Given the description of an element on the screen output the (x, y) to click on. 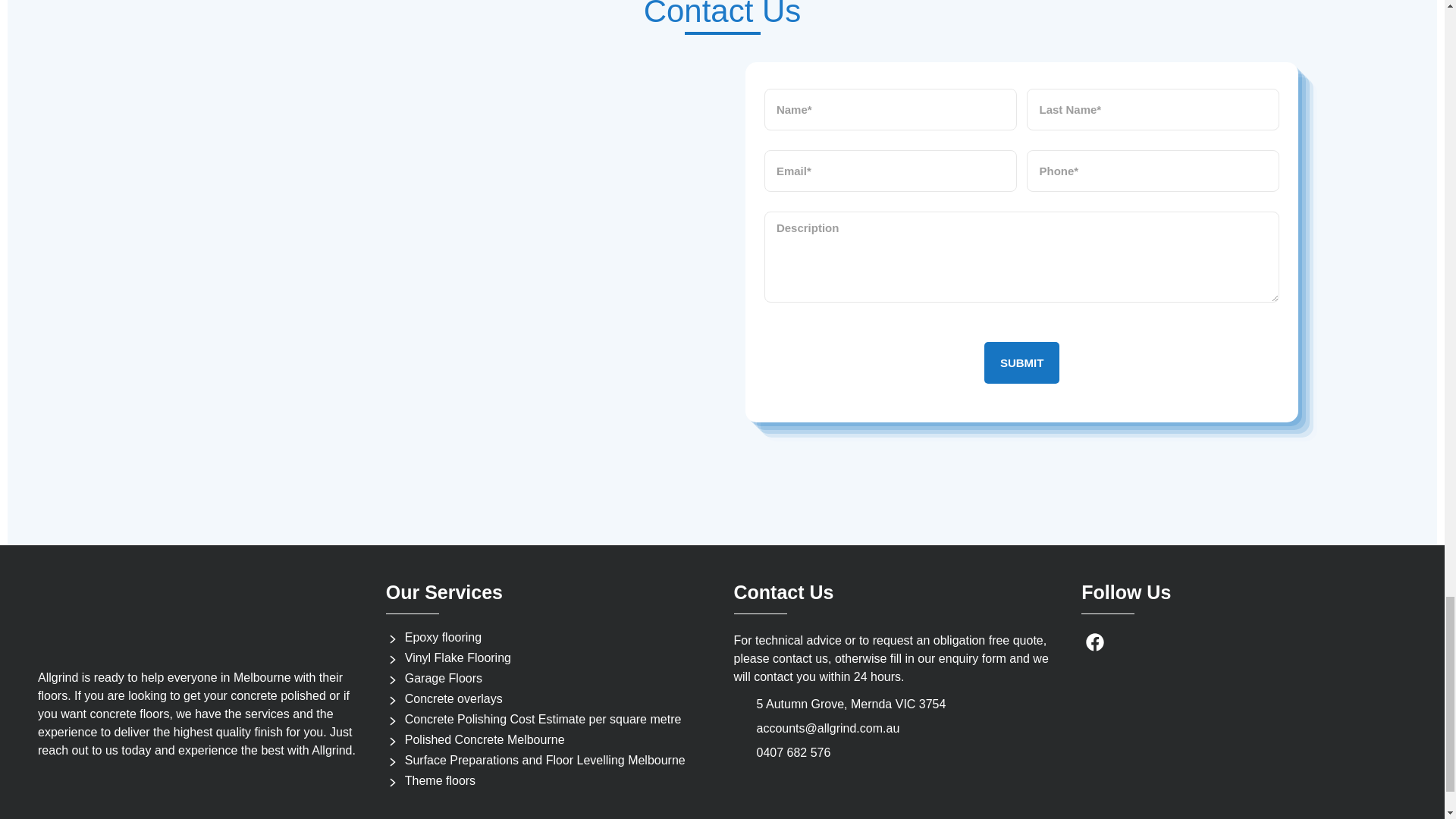
Submit (1021, 363)
